Given the description of an element on the screen output the (x, y) to click on. 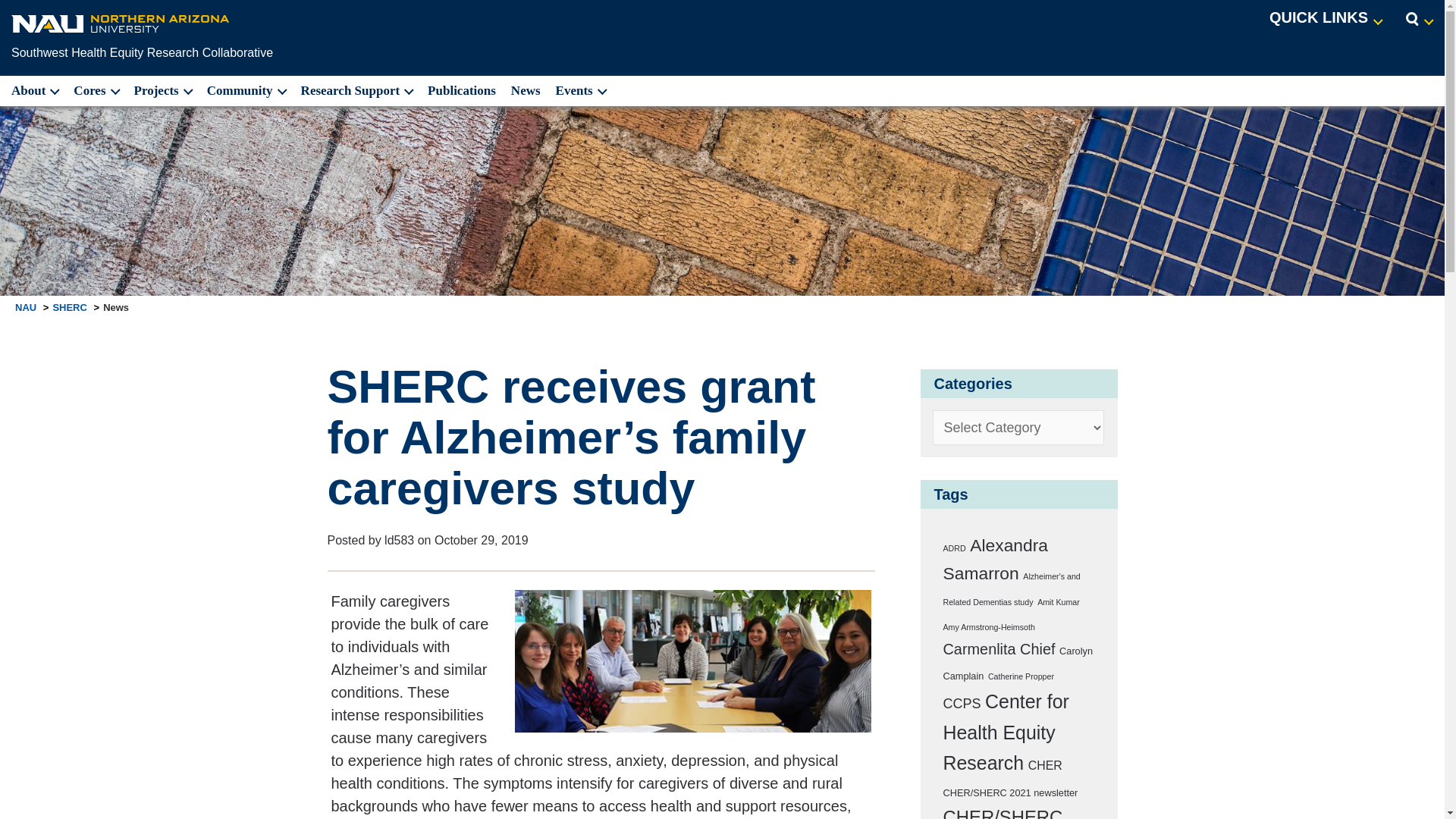
Cores (95, 91)
QUICK LINKS (1325, 18)
Southwest Health Equity Research Collaborative (141, 52)
NAU Home (121, 22)
About (32, 91)
